Given the description of an element on the screen output the (x, y) to click on. 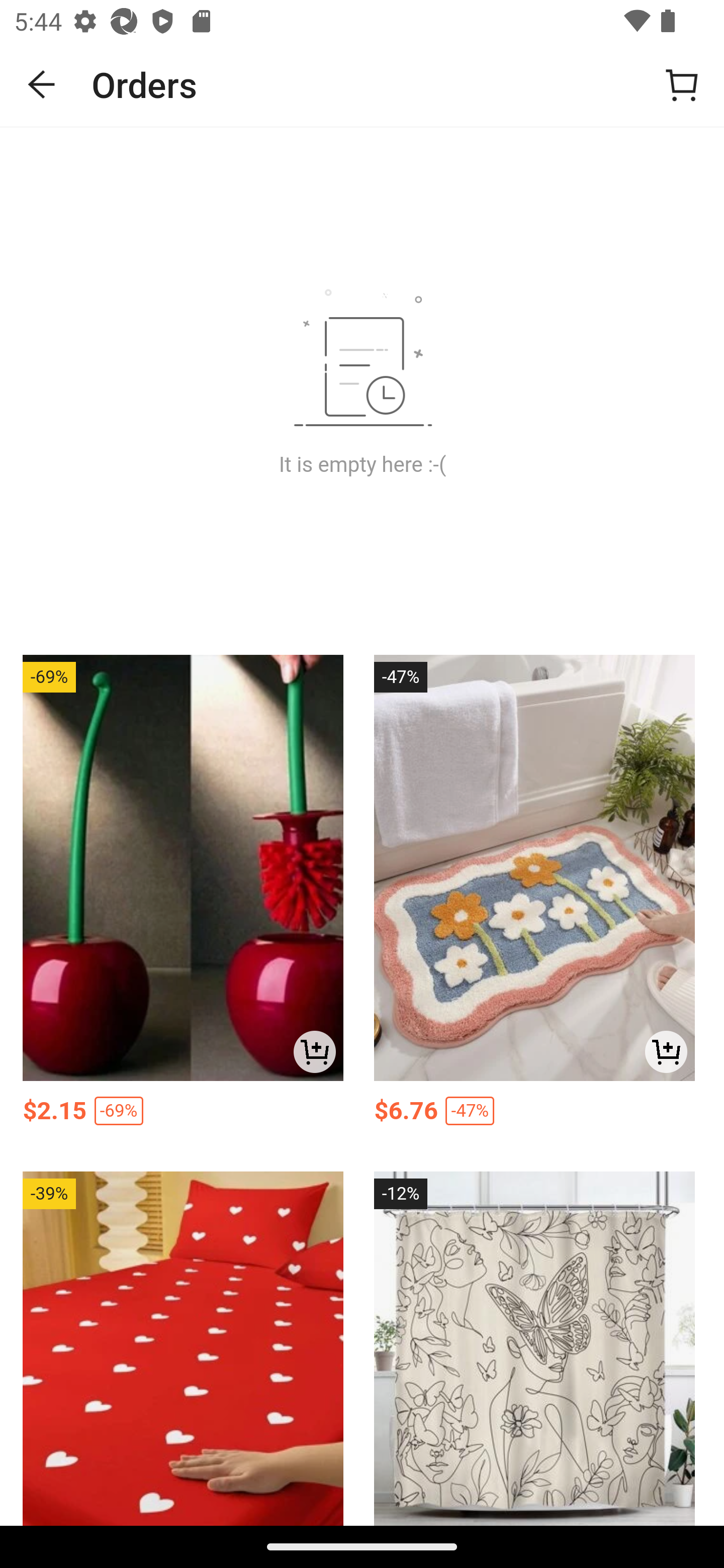
BACK (42, 84)
Cart (681, 84)
$2.15 -69% (182, 1114)
$6.76 -47% (534, 1114)
